Given the description of an element on the screen output the (x, y) to click on. 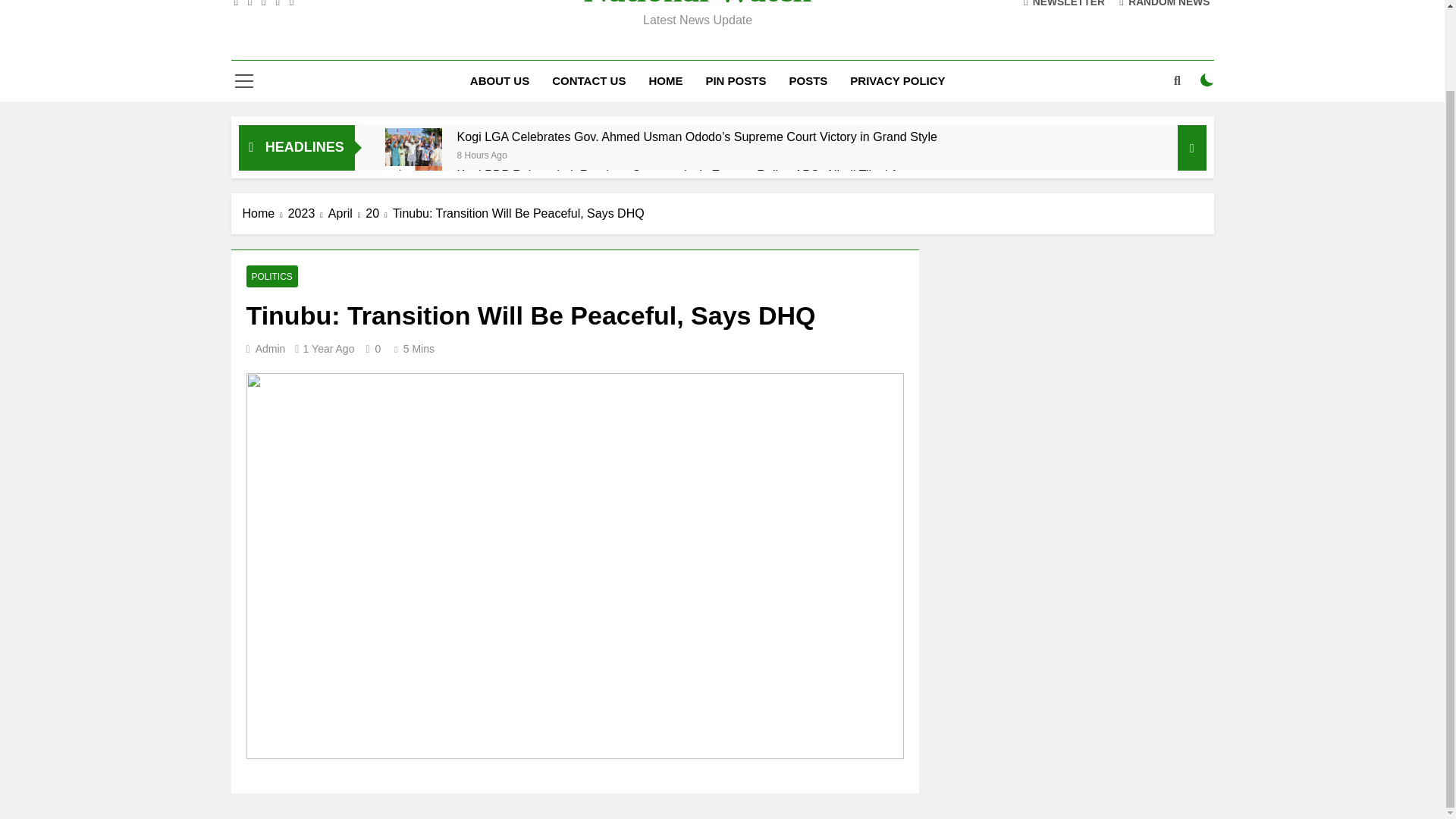
RANDOM NEWS (1164, 3)
CONTACT US (588, 80)
PIN POSTS (735, 80)
PRIVACY POLICY (897, 80)
on (1206, 79)
HOME (665, 80)
8 Hours Ago (481, 154)
ABOUT US (499, 80)
